Given the description of an element on the screen output the (x, y) to click on. 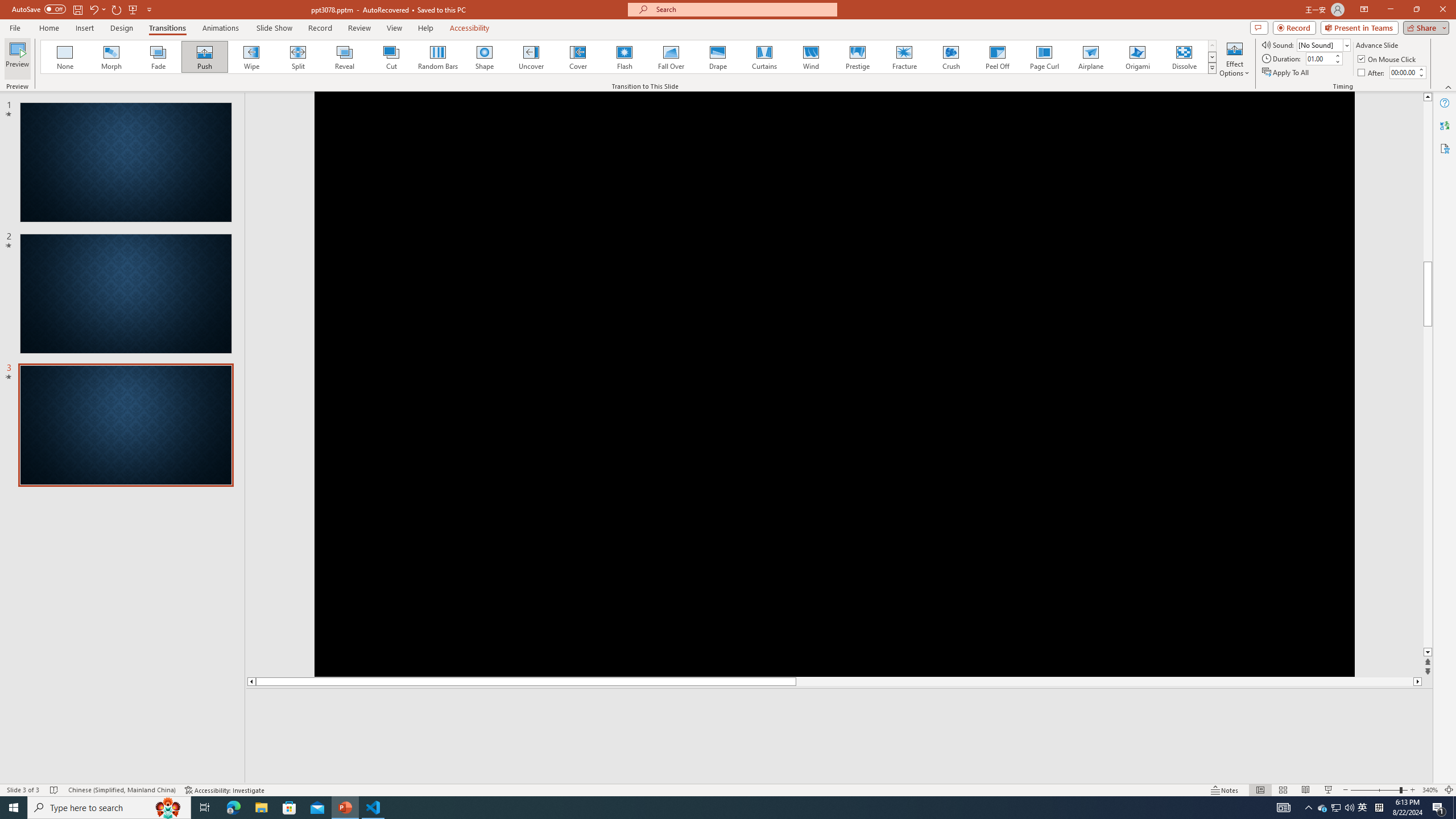
Zoom 340% (1430, 790)
Morph (111, 56)
Apply To All (1286, 72)
Sound (1324, 44)
After (1372, 72)
Random Bars (437, 56)
